Given the description of an element on the screen output the (x, y) to click on. 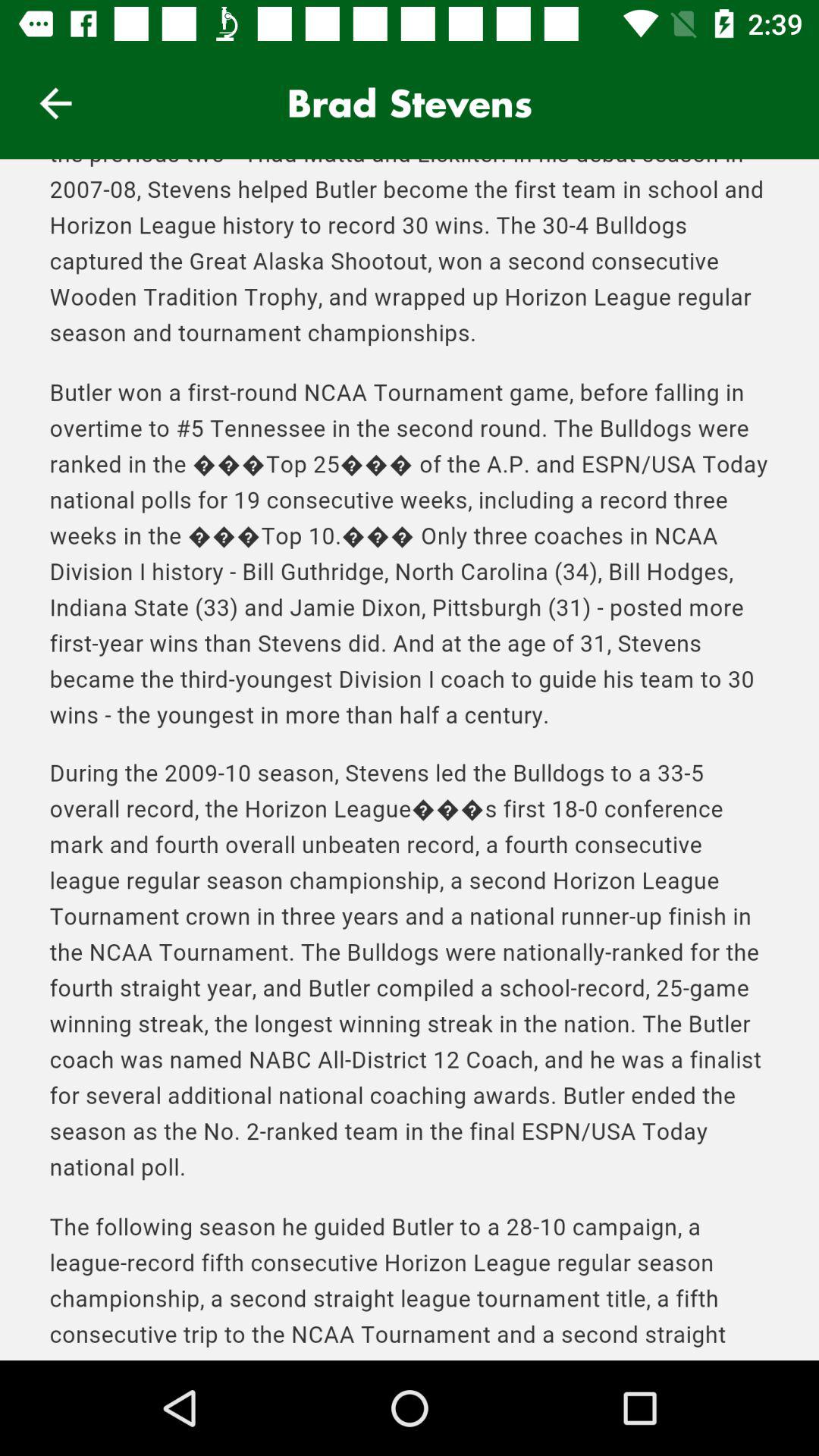
scroll down (409, 759)
